Given the description of an element on the screen output the (x, y) to click on. 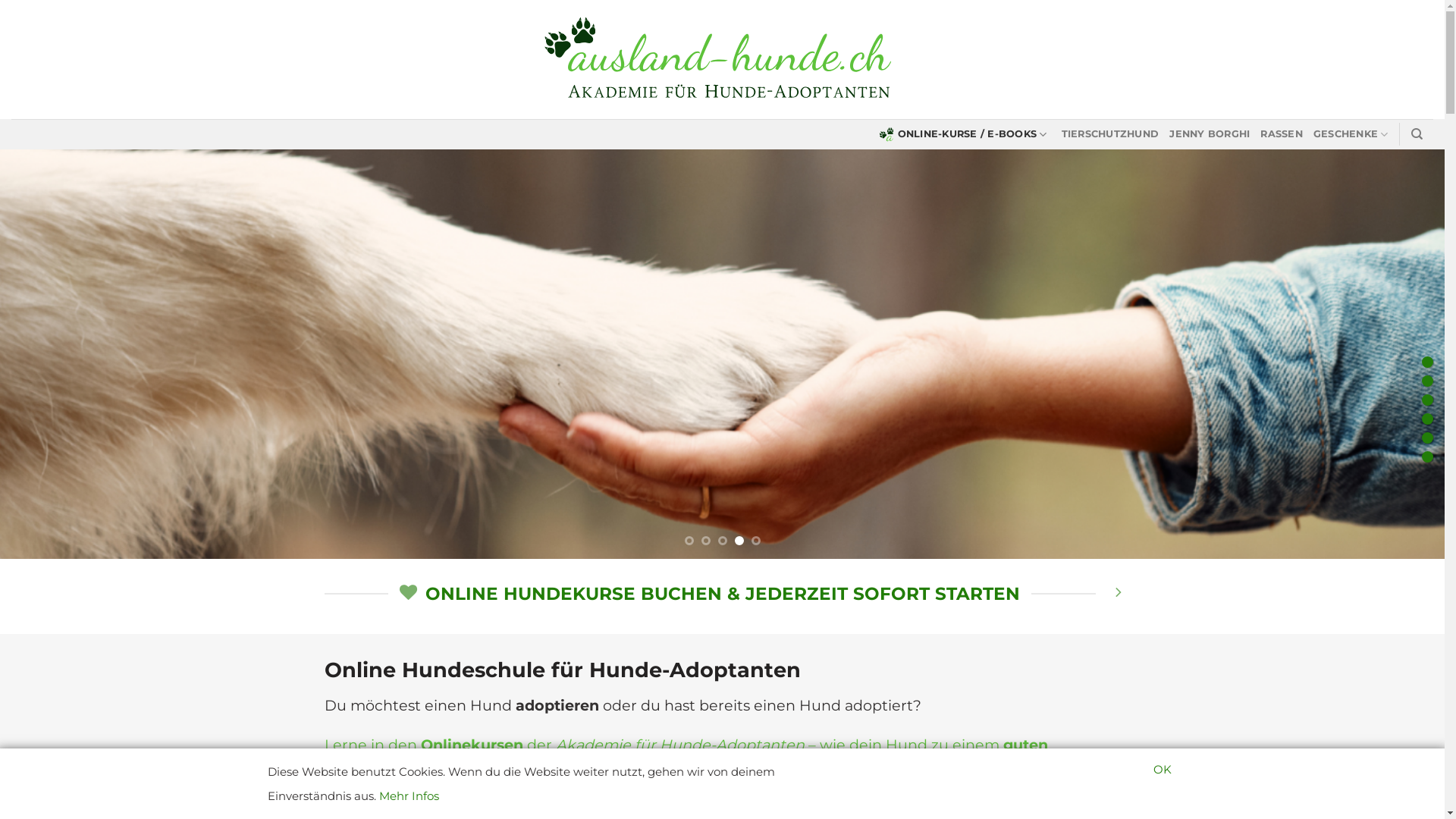
GESCHENKE Element type: text (1350, 134)
ausland-hunde.ch - Die Ausland-Hund Akademie Element type: hover (721, 59)
OK Element type: text (1161, 769)
TIERSCHUTZHUND Element type: text (1110, 134)
Mehr Infos Element type: text (409, 795)
JENNY BORGHI Element type: text (1209, 134)
ONLINE-KURSE / E-BOOKS Element type: text (964, 134)
RASSEN Element type: text (1281, 134)
